Given the description of an element on the screen output the (x, y) to click on. 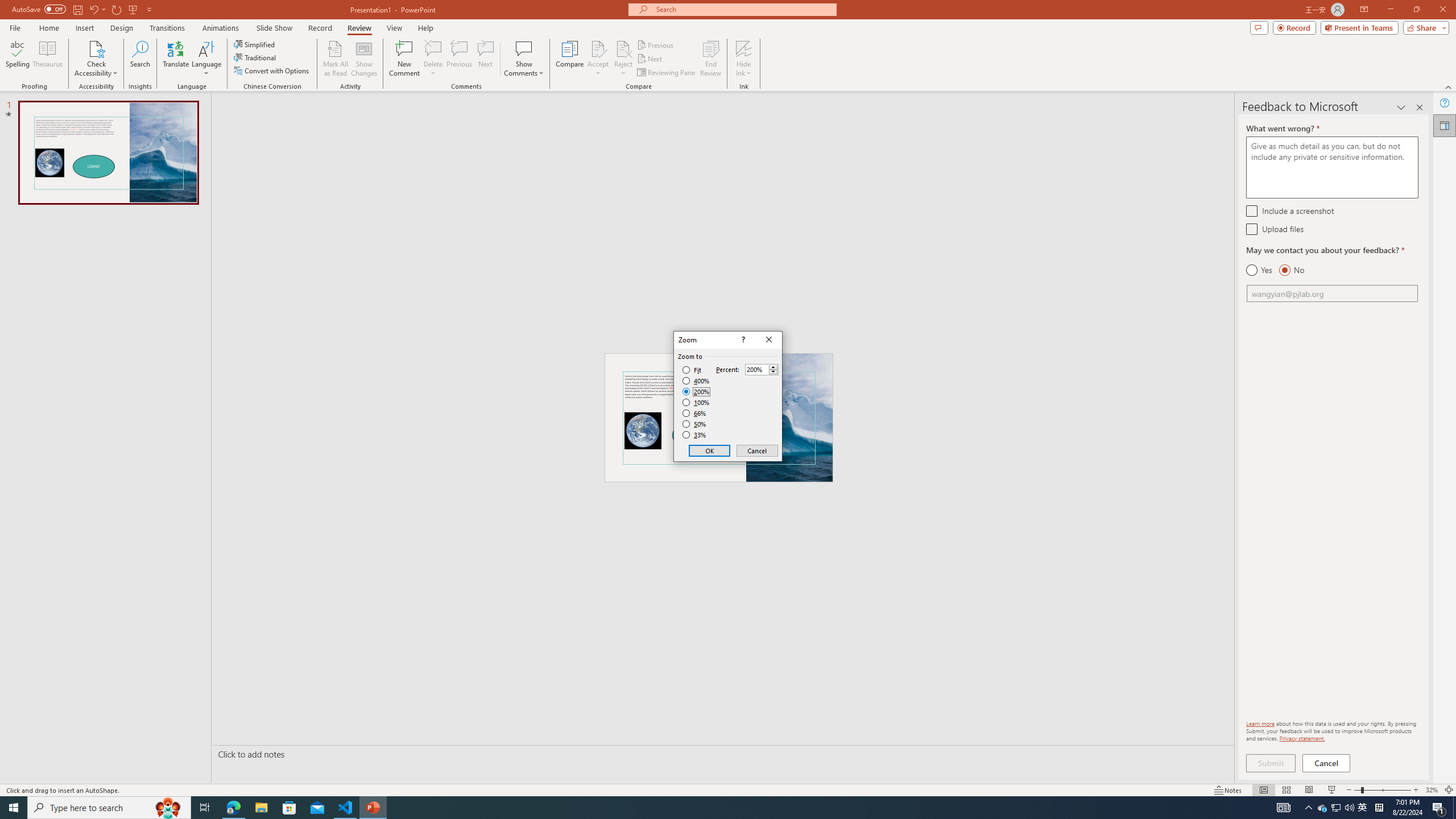
Percent (761, 369)
